Given the description of an element on the screen output the (x, y) to click on. 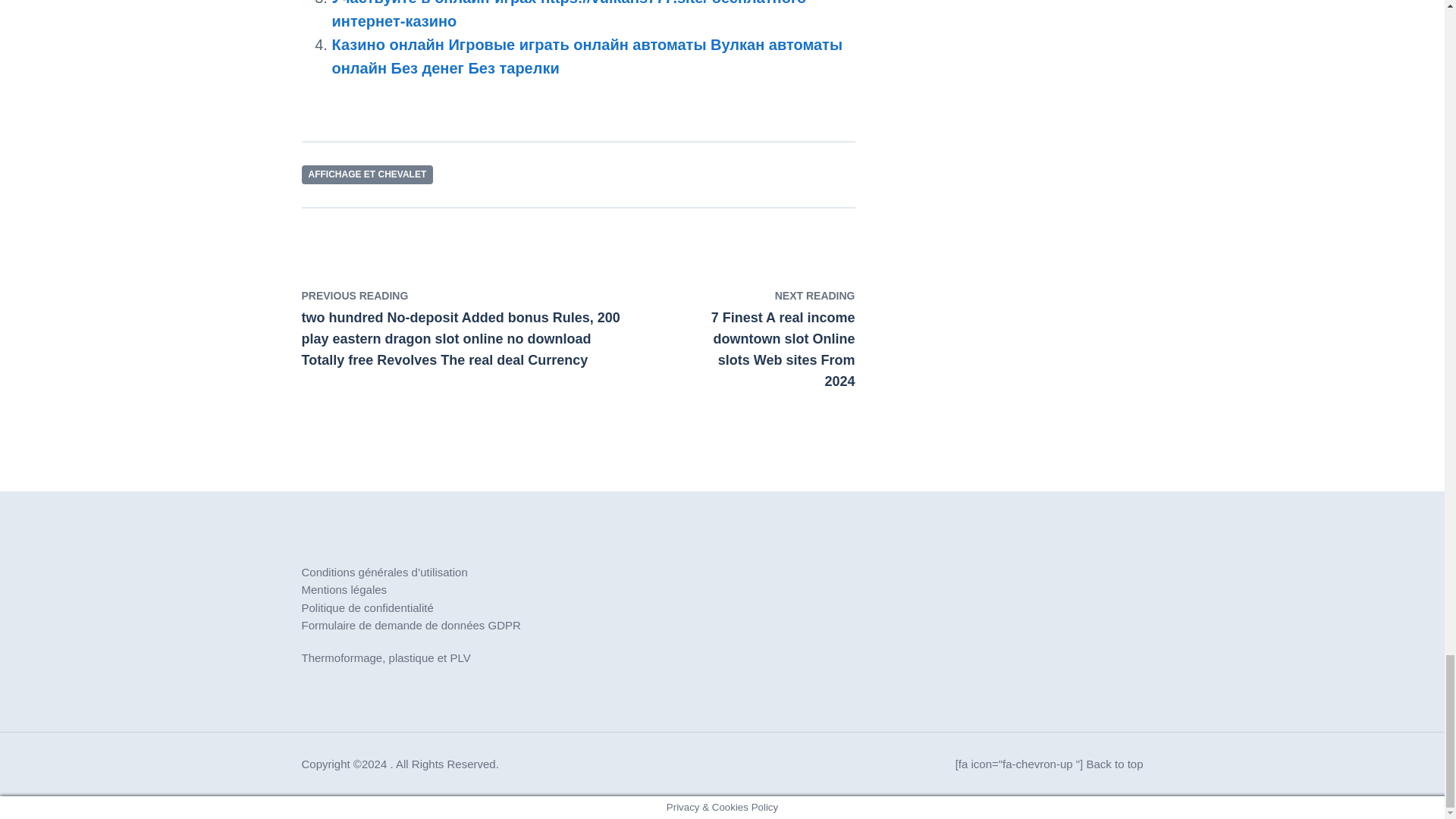
AFFICHAGE ET CHEVALET (367, 174)
